Given the description of an element on the screen output the (x, y) to click on. 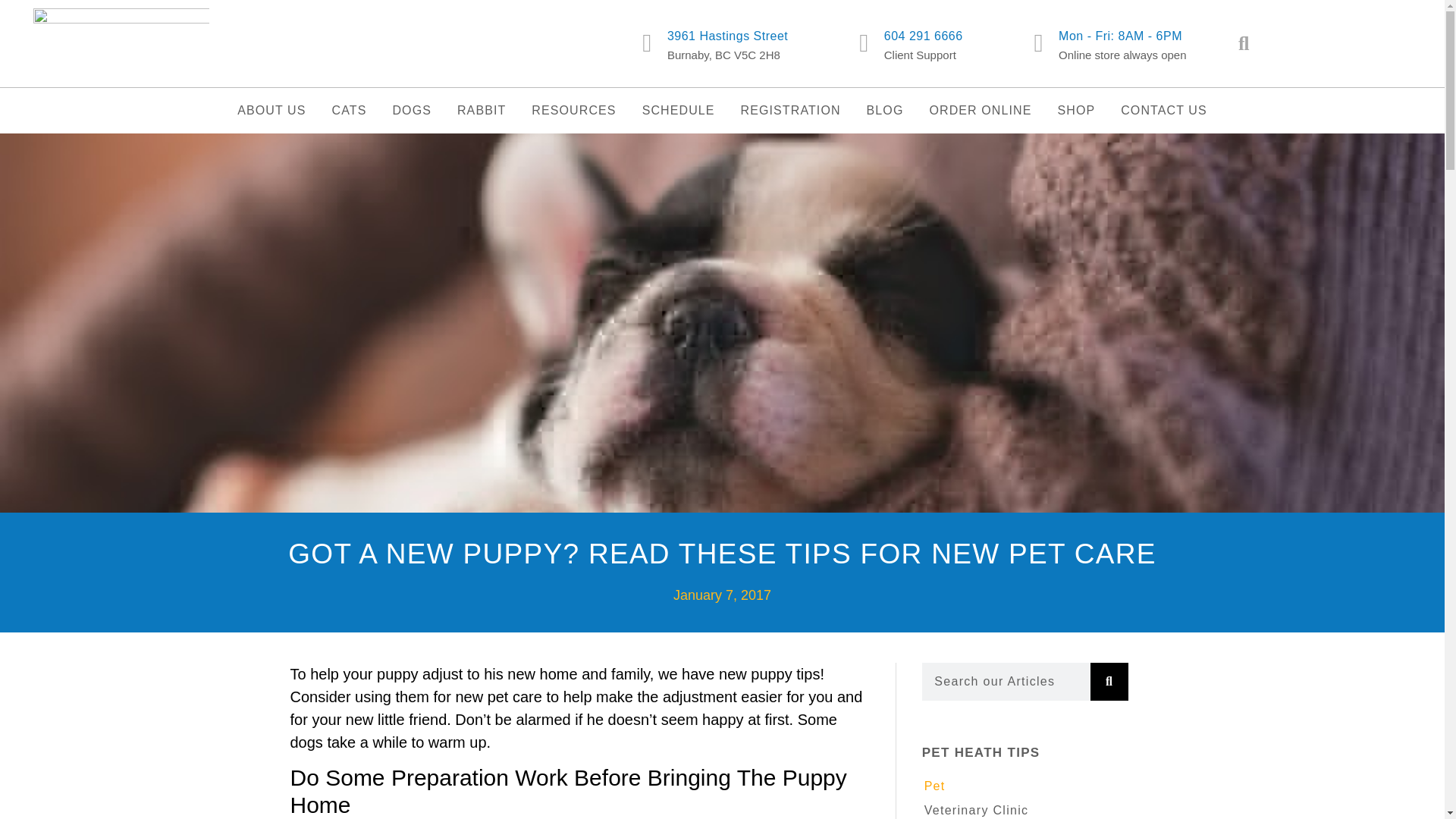
3961 Hastings Street (726, 35)
ABOUT US (270, 110)
REGISTRATION (790, 110)
SCHEDULE (678, 110)
ORDER ONLINE (979, 110)
604 291 6666 (922, 35)
RESOURCES (573, 110)
CATS (349, 110)
DOGS (411, 110)
BLOG (884, 110)
